Given the description of an element on the screen output the (x, y) to click on. 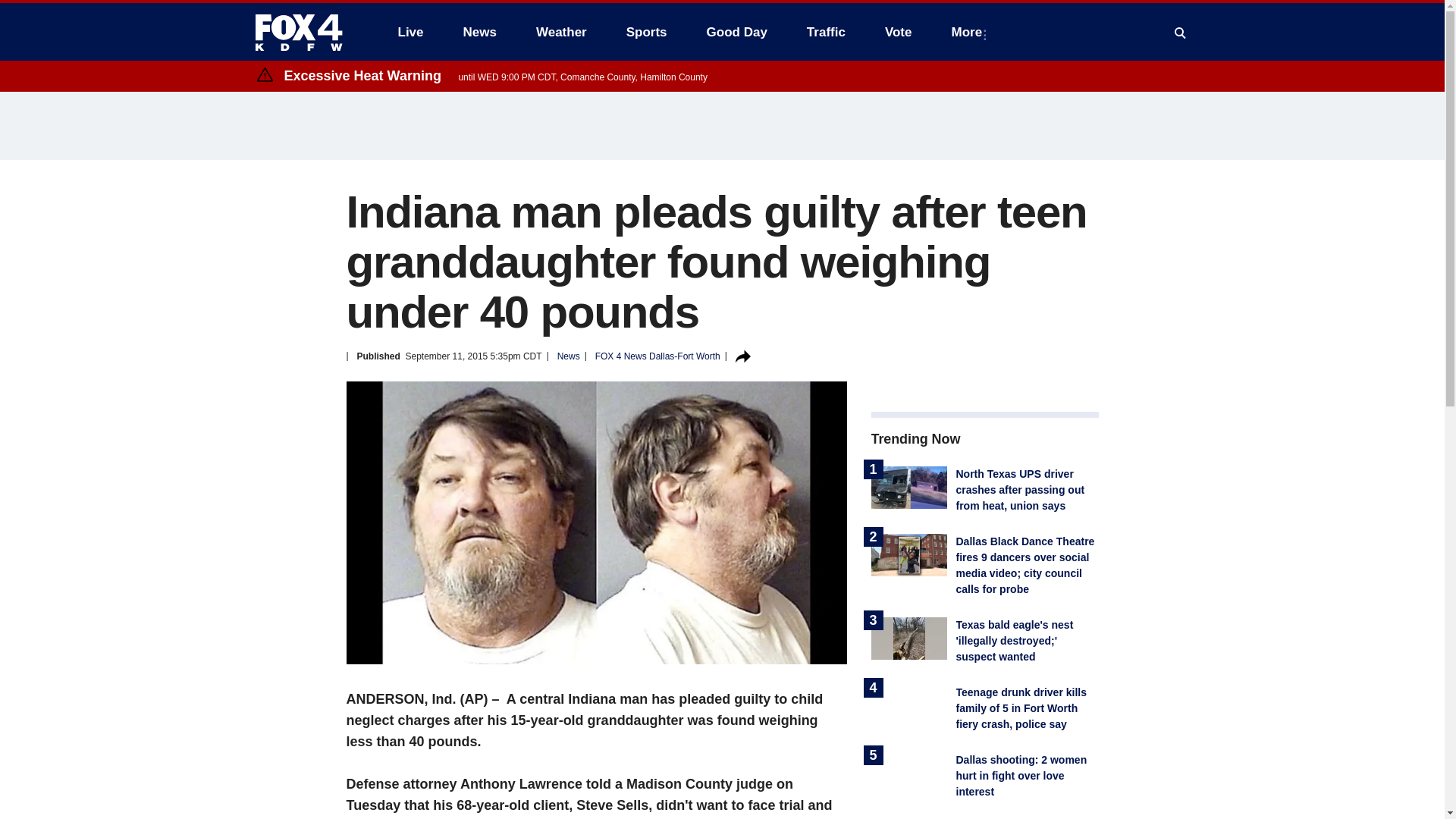
Good Day (736, 32)
Vote (898, 32)
Sports (646, 32)
Traffic (825, 32)
More (969, 32)
Weather (561, 32)
Live (410, 32)
News (479, 32)
